Given the description of an element on the screen output the (x, y) to click on. 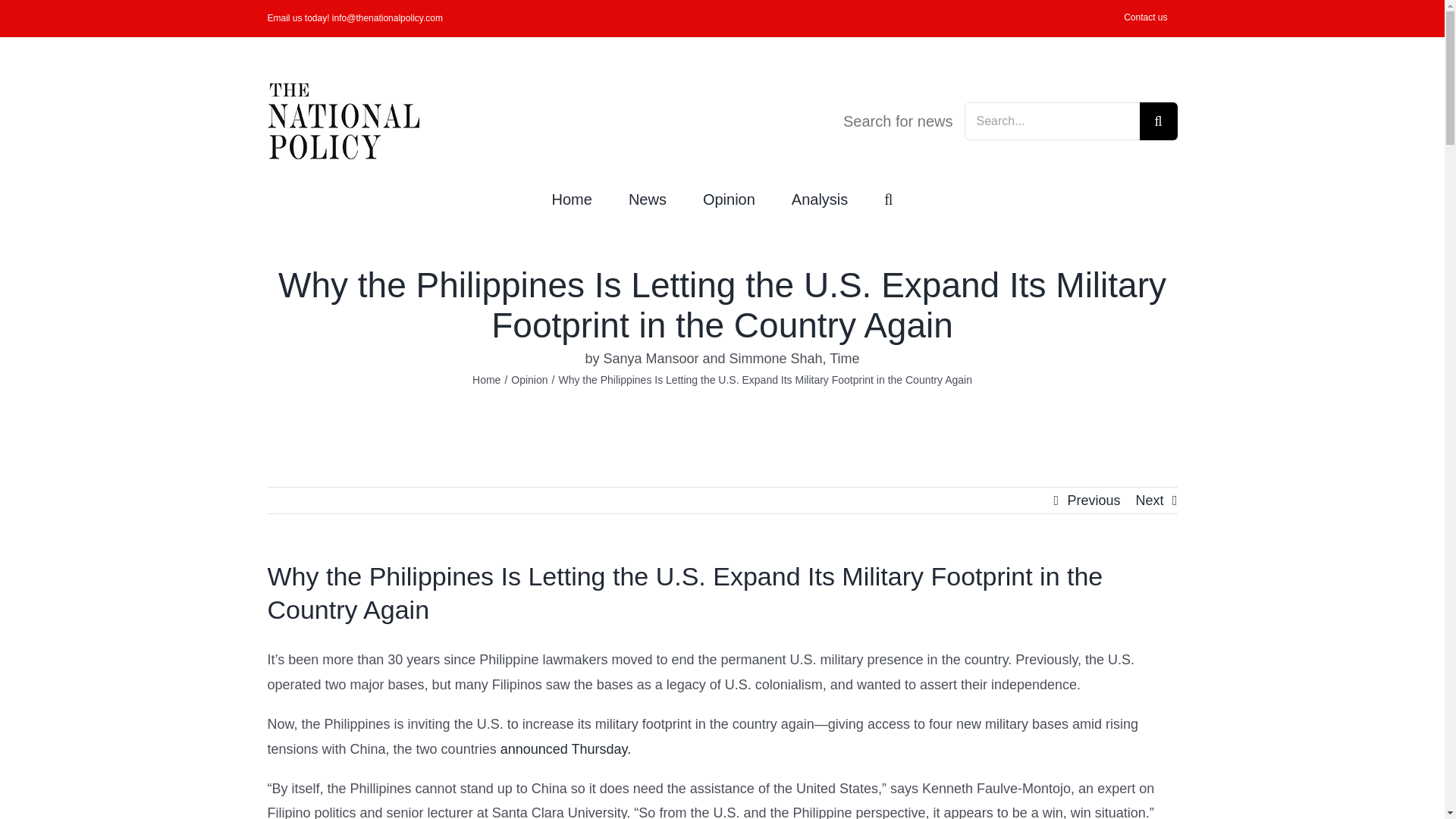
Analysis (819, 197)
Home (571, 197)
Opinion (729, 197)
Contact us (1144, 18)
Previous (1093, 500)
announced Thursday. (565, 749)
Home (485, 379)
News (647, 197)
Opinion (529, 379)
Next (1149, 500)
